Given the description of an element on the screen output the (x, y) to click on. 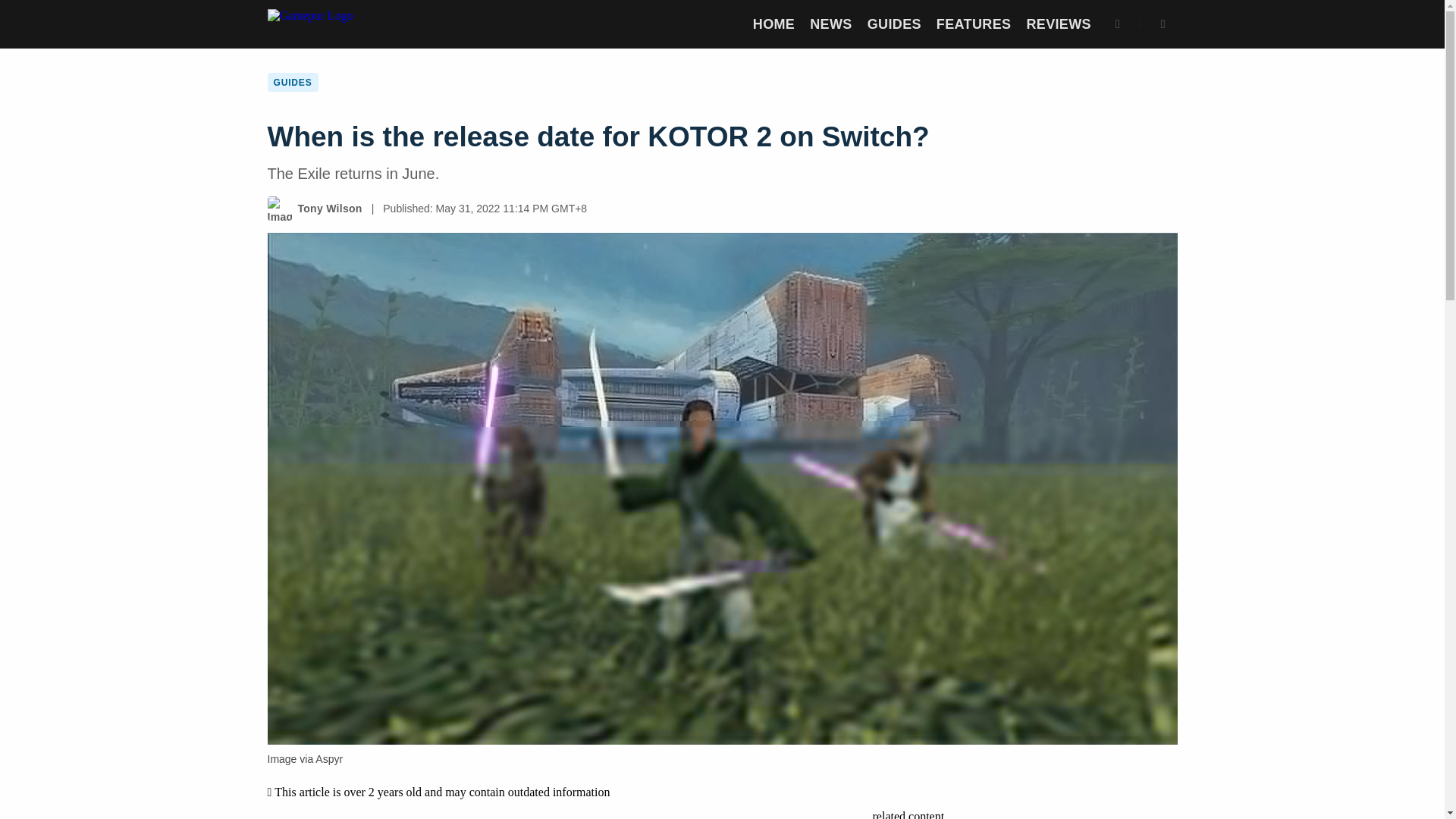
REVIEWS (1058, 23)
HOME (773, 23)
FEATURES (973, 23)
NEWS (830, 23)
GUIDES (894, 23)
